Given the description of an element on the screen output the (x, y) to click on. 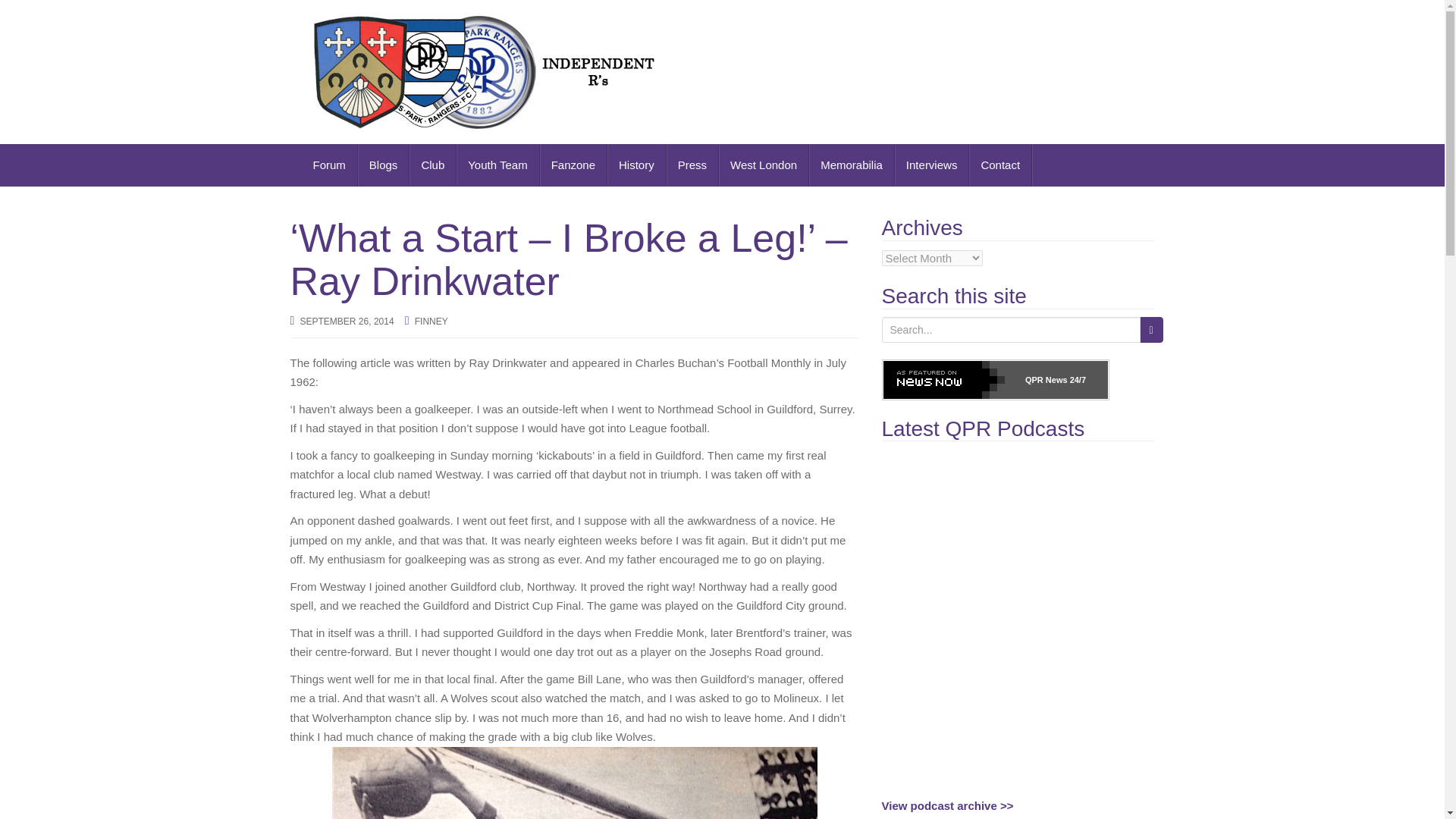
Forum (329, 165)
Press (692, 165)
Blogs (384, 165)
Contact (1000, 165)
Fanzone (573, 165)
Fanzone (573, 165)
Memorabilia (852, 165)
History (636, 165)
Click here for more QPR news from NewsNow (994, 379)
Contact (1000, 165)
Youth Team (497, 165)
SEPTEMBER 26, 2014 (346, 321)
Club (433, 165)
Interviews (932, 165)
Forum (329, 165)
